Given the description of an element on the screen output the (x, y) to click on. 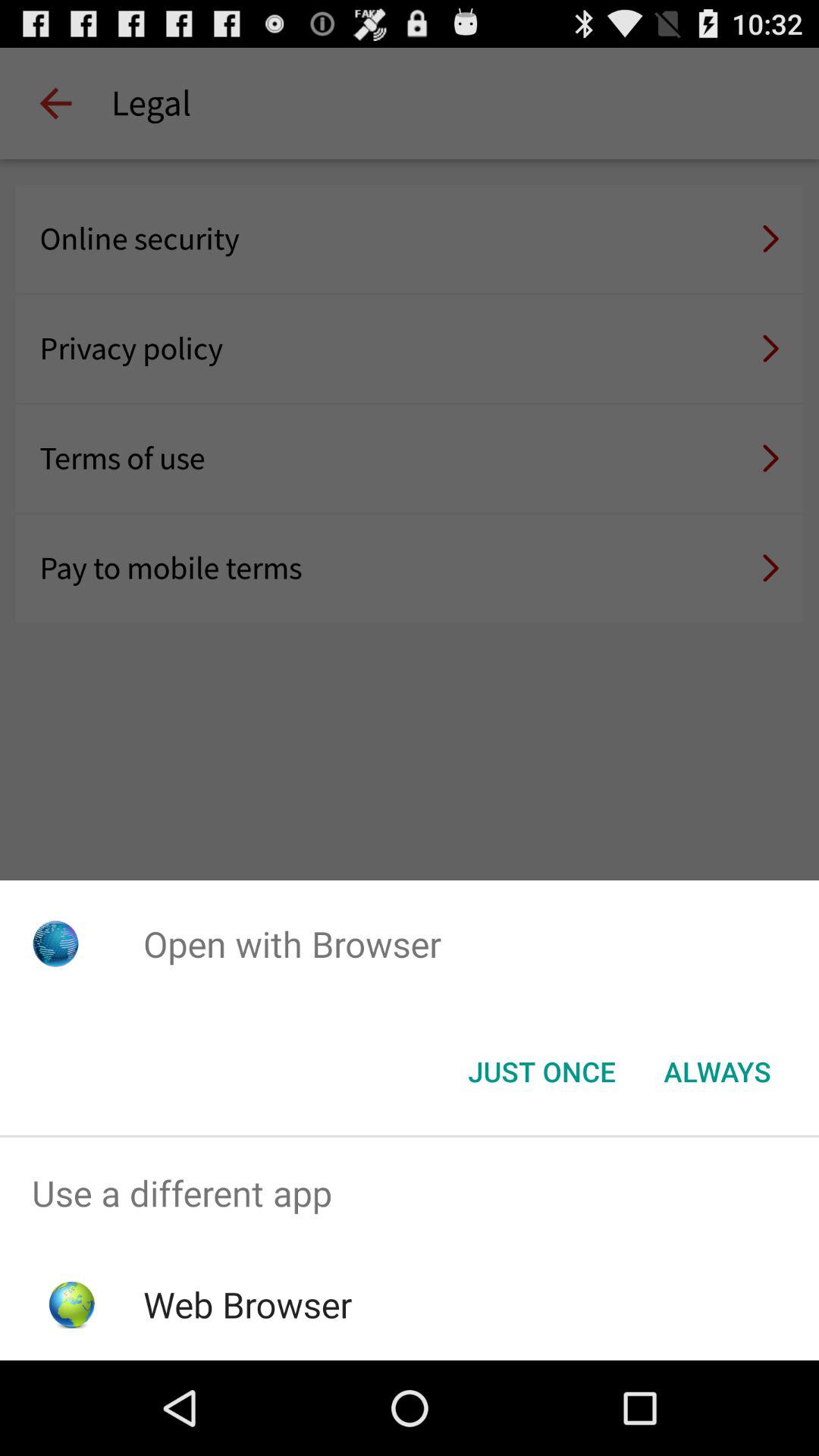
jump until the always item (717, 1071)
